Given the description of an element on the screen output the (x, y) to click on. 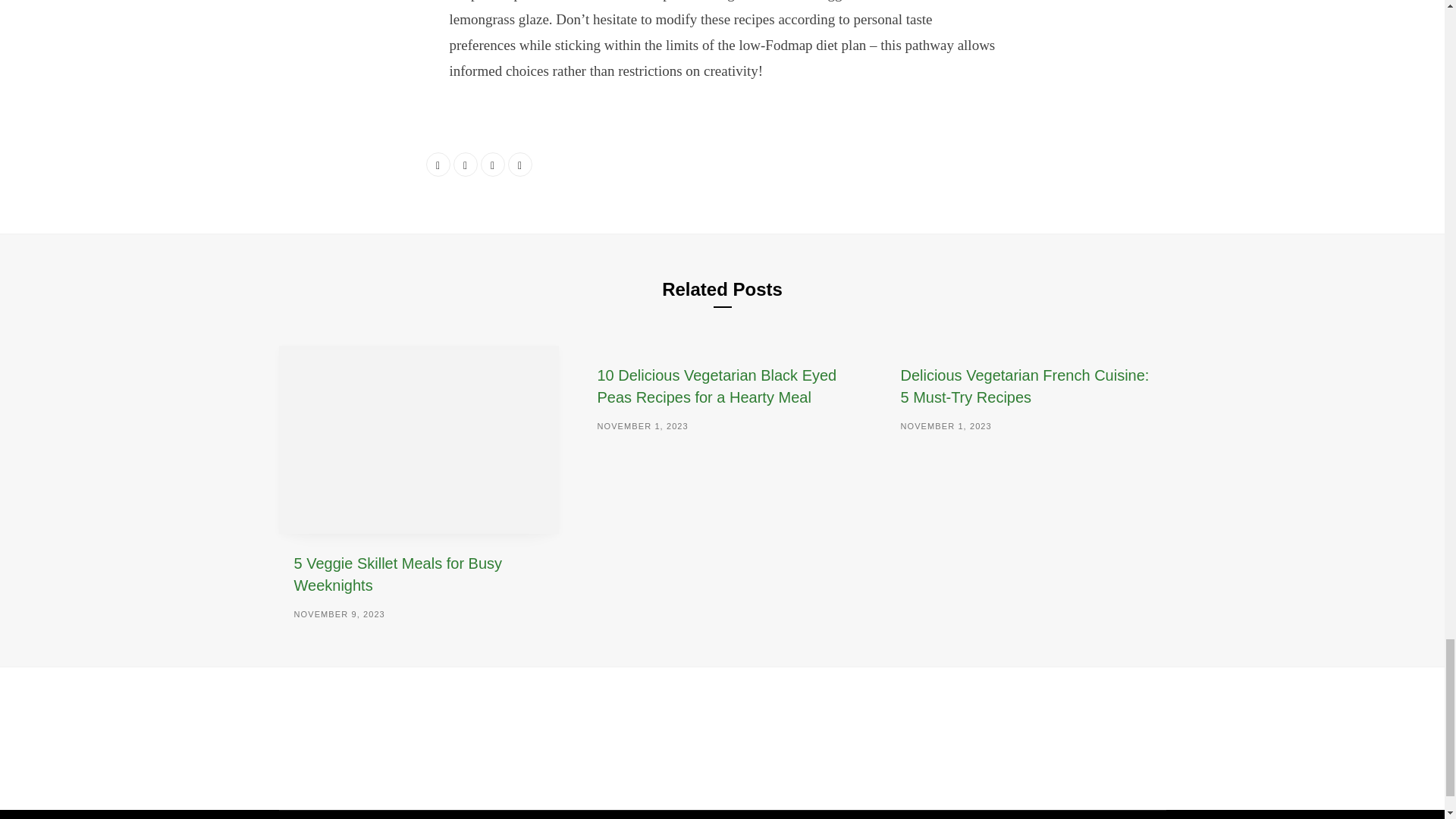
Pinterest (520, 164)
Share on Facebook (437, 164)
Delicious Vegetarian French Cuisine: 5 Must-Try Recipes (1023, 385)
5 Veggie Skillet Meals for Busy Weeknights (398, 574)
LinkedIn (492, 164)
Share on Twitter (464, 164)
5 Veggie Skillet Meals for Busy Weeknights (419, 439)
